Given the description of an element on the screen output the (x, y) to click on. 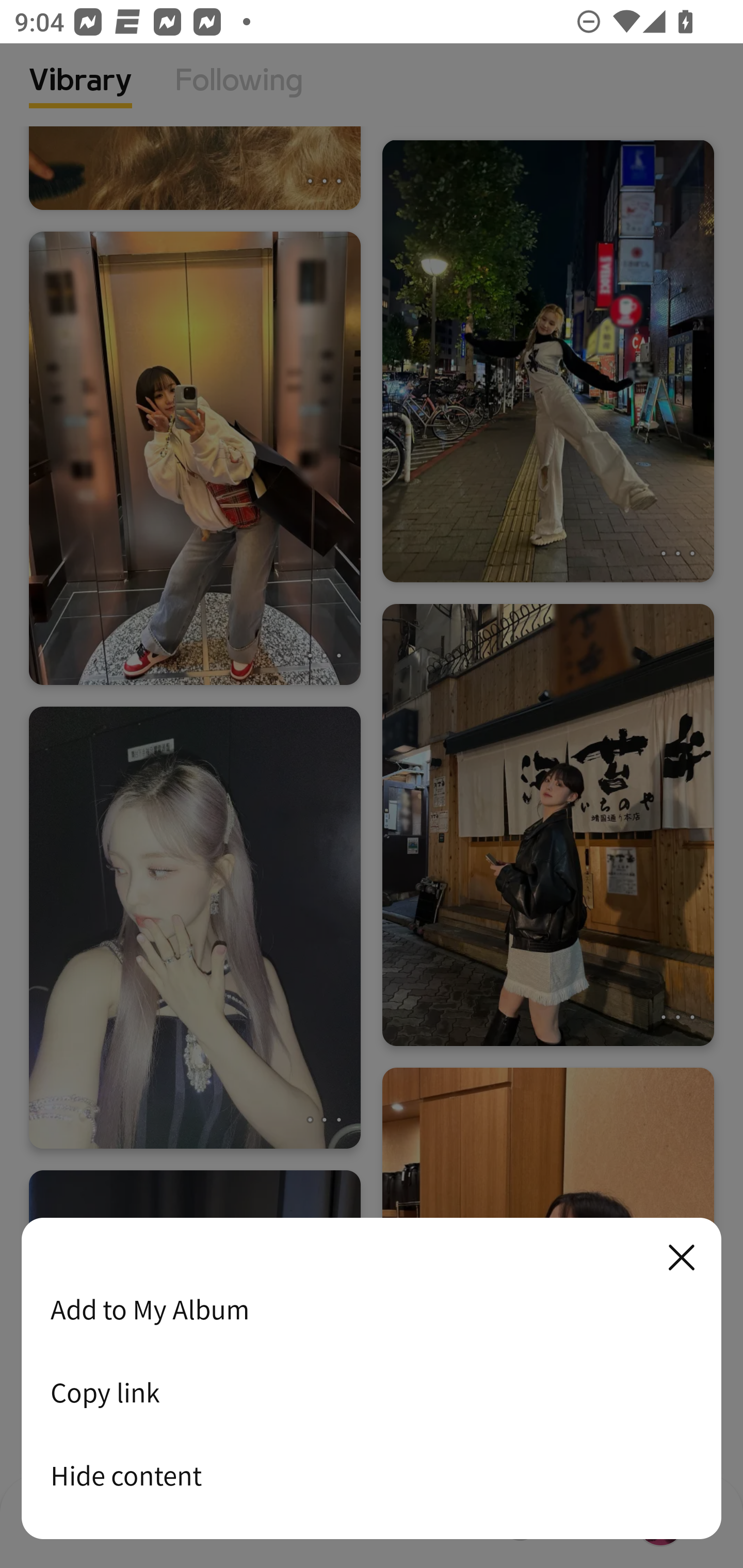
Add to My Album Copy link Hide content (371, 1378)
Add to My Album (371, 1308)
Copy link (371, 1391)
Hide content (371, 1474)
